Given the description of an element on the screen output the (x, y) to click on. 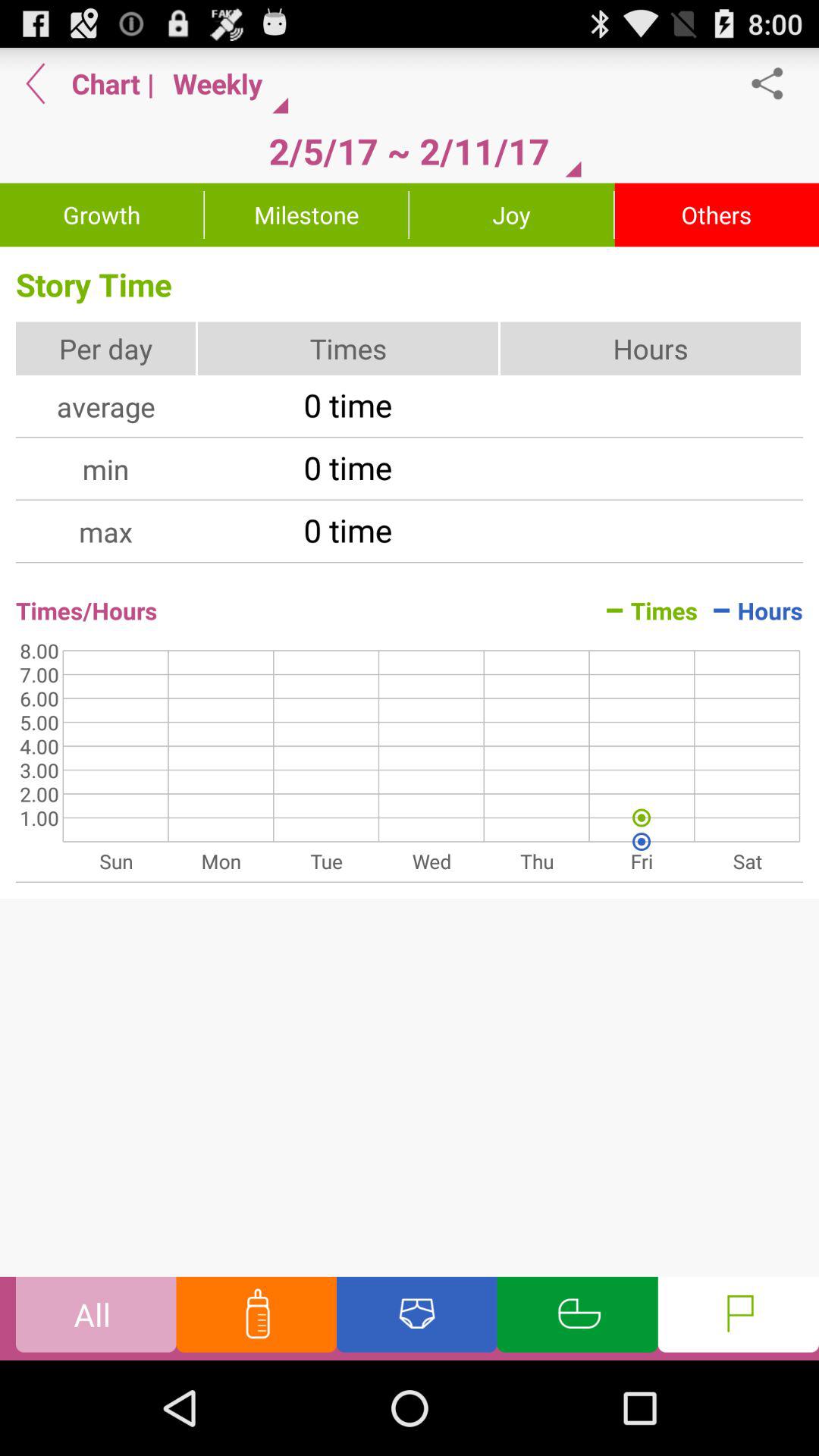
flag info (738, 1318)
